Given the description of an element on the screen output the (x, y) to click on. 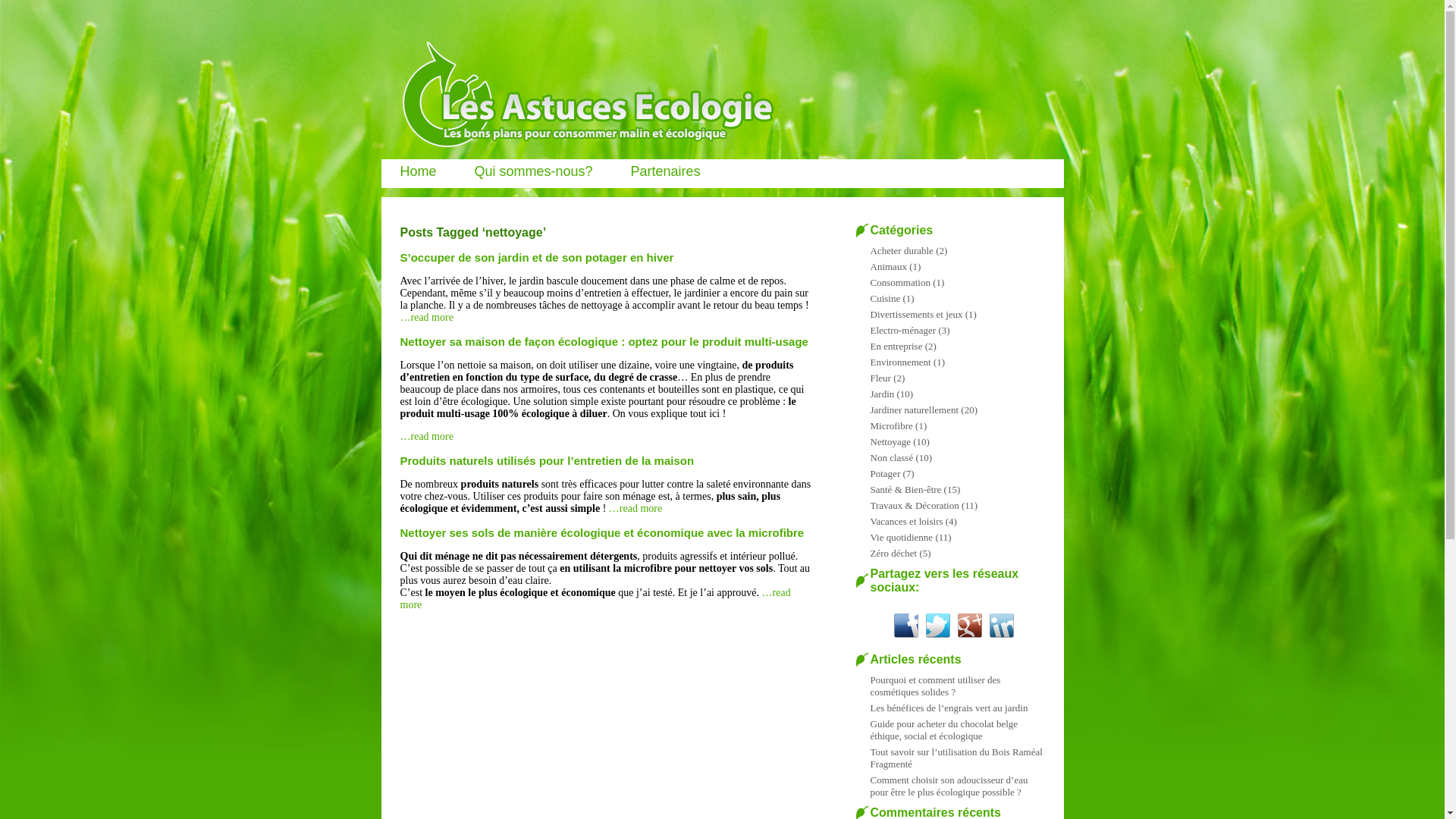
Vacances et loisirs Element type: text (906, 521)
Home Element type: text (417, 171)
Fleur Element type: text (880, 377)
Cuisine Element type: text (885, 298)
Divertissements et jeux Element type: text (916, 314)
Jardin Element type: text (882, 393)
Microfibre Element type: text (891, 425)
Acheter durable Element type: text (901, 250)
Qui sommes-nous? Element type: text (533, 171)
Animaux Element type: text (888, 266)
En entreprise Element type: text (896, 345)
Consommation Element type: text (900, 282)
Nettoyage Element type: text (890, 441)
Vie quotidienne Element type: text (901, 536)
Partenaires Element type: text (665, 171)
Environnement Element type: text (900, 361)
Jardiner naturellement Element type: text (914, 409)
Potager Element type: text (885, 473)
